Given the description of an element on the screen output the (x, y) to click on. 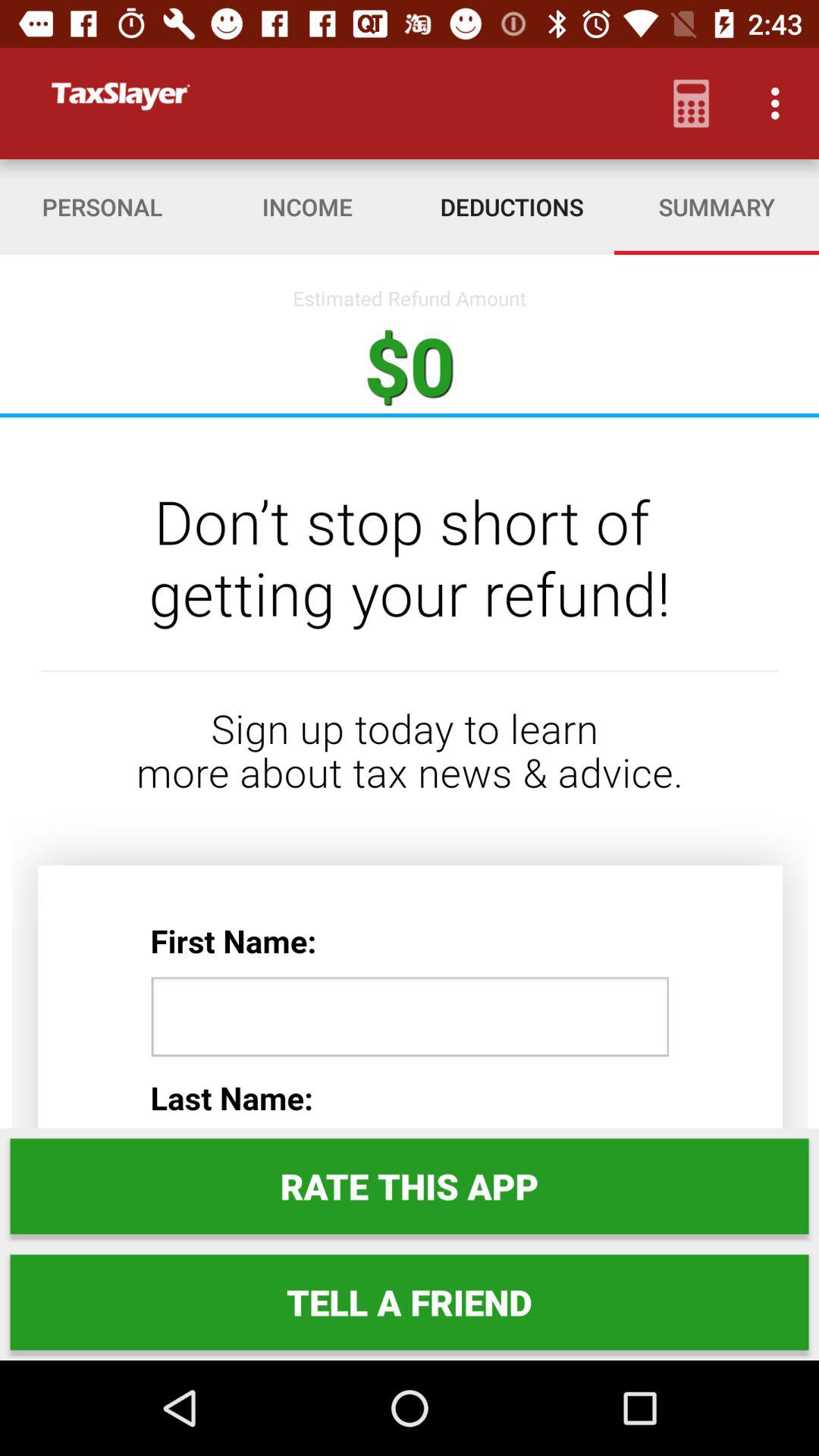
select icon above tell a friend item (409, 1186)
